Given the description of an element on the screen output the (x, y) to click on. 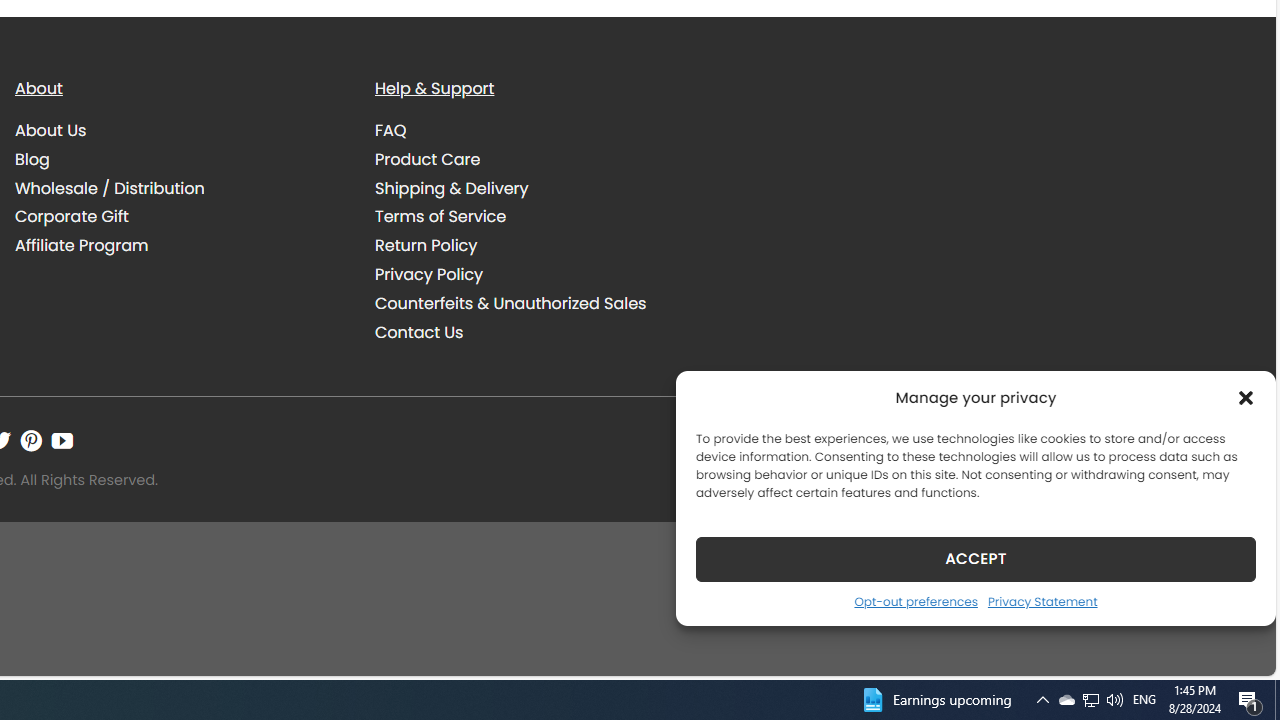
Follow on YouTube (61, 440)
Shipping & Delivery (451, 187)
ACCEPT (975, 558)
FAQ (540, 131)
Blog (32, 158)
Return Policy (540, 246)
Counterfeits & Unauthorized Sales (510, 302)
Class: cmplz-close (1245, 397)
Corporate Gift (72, 216)
Corporate Gift (180, 216)
Counterfeits & Unauthorized Sales (540, 303)
Affiliate Program (81, 245)
Follow on Pinterest (31, 440)
Product Care (428, 158)
